Given the description of an element on the screen output the (x, y) to click on. 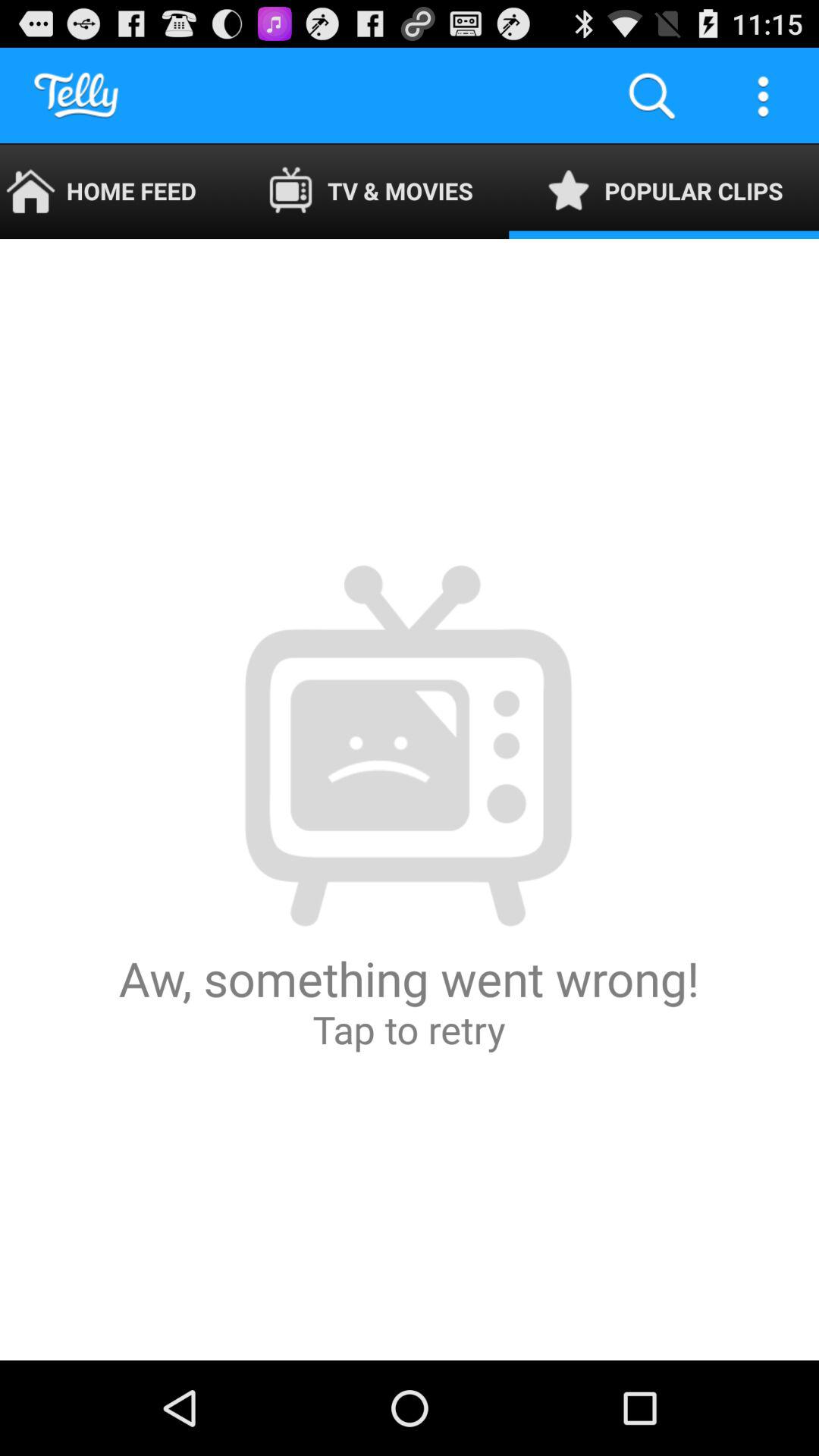
turn on app next to tv & movies icon (651, 95)
